Given the description of an element on the screen output the (x, y) to click on. 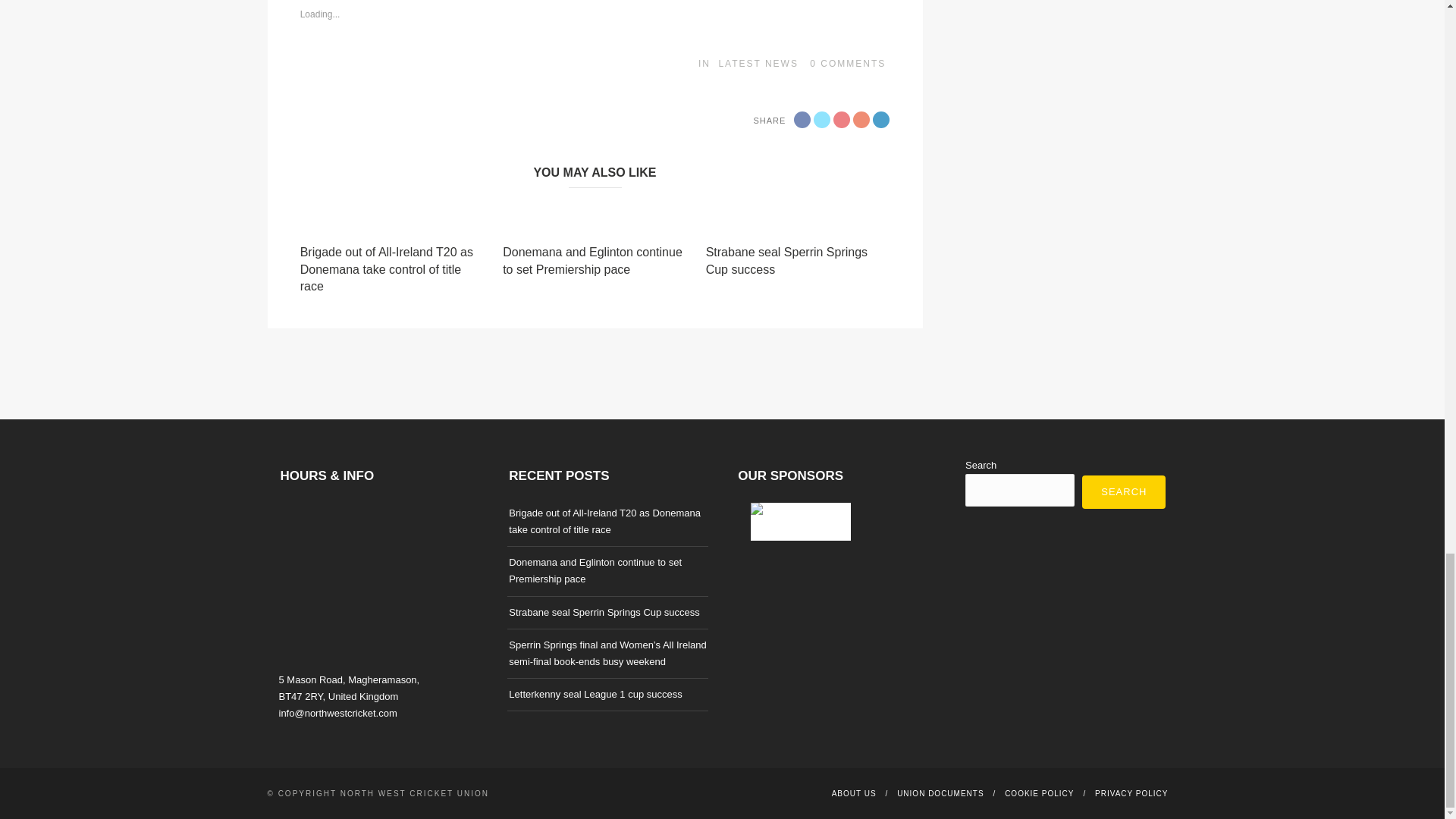
Google Maps Embed (379, 584)
Pinterest (861, 119)
Facebook (801, 119)
LinkedIn (880, 119)
Twitter (821, 119)
